Given the description of an element on the screen output the (x, y) to click on. 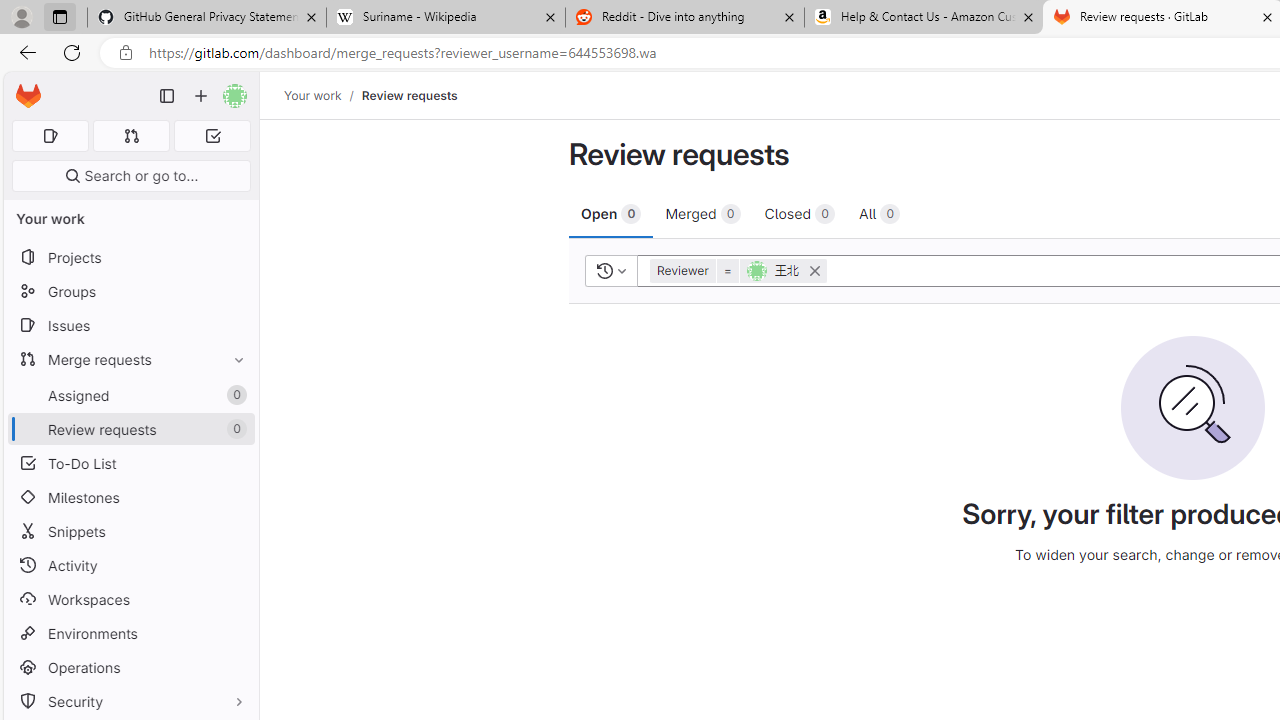
Milestones (130, 497)
Review requests0 (130, 429)
Issues (130, 325)
Class: s16 (604, 270)
To-Do List (130, 463)
Groups (130, 291)
Environments (130, 633)
Snippets (130, 530)
Your work/ (323, 95)
Class: s16 close-icon (814, 270)
Closed 0 (799, 213)
Primary navigation sidebar (167, 96)
Review requests 0 (130, 429)
